Given the description of an element on the screen output the (x, y) to click on. 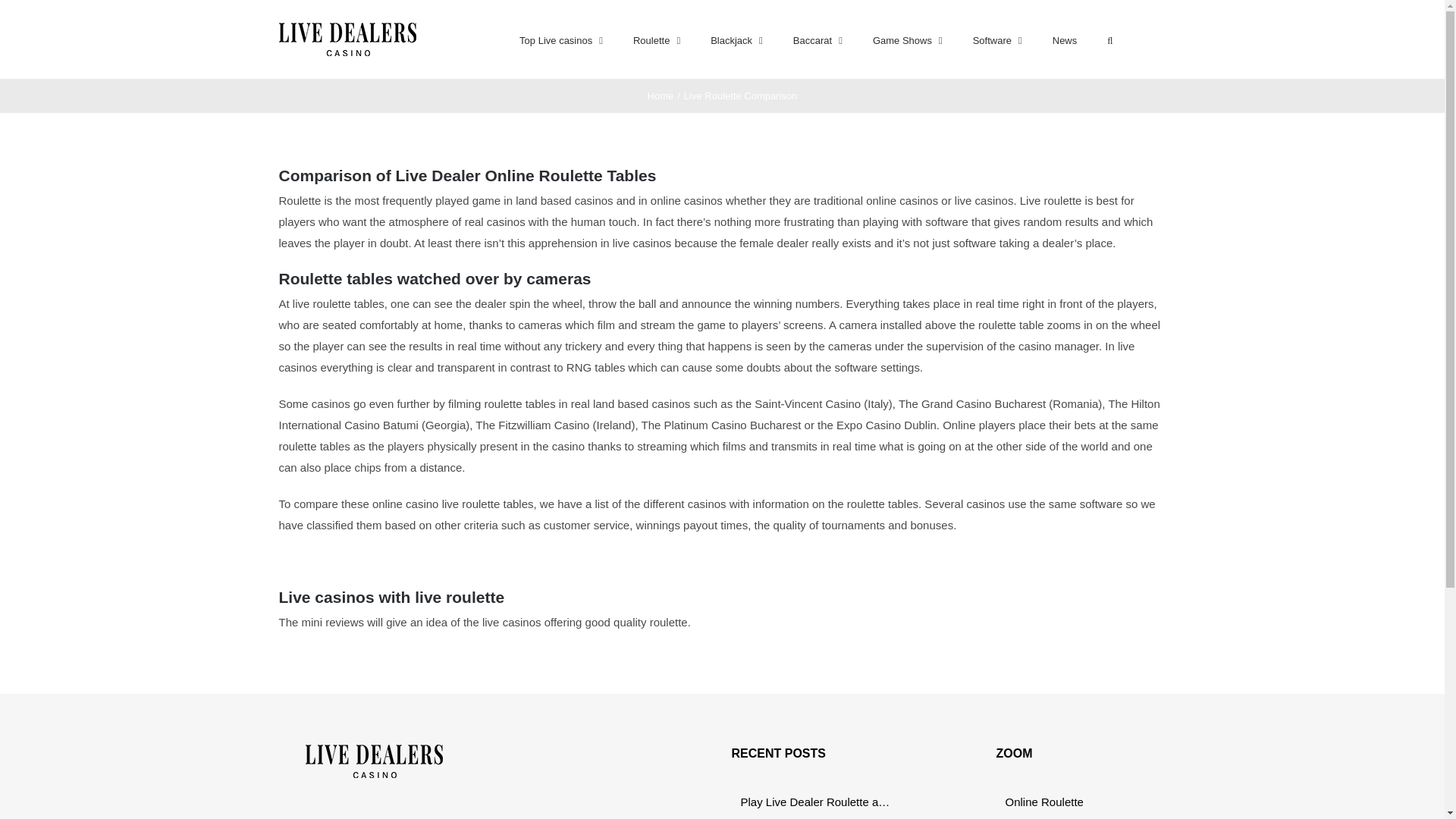
Top Live casinos (560, 38)
